Given the description of an element on the screen output the (x, y) to click on. 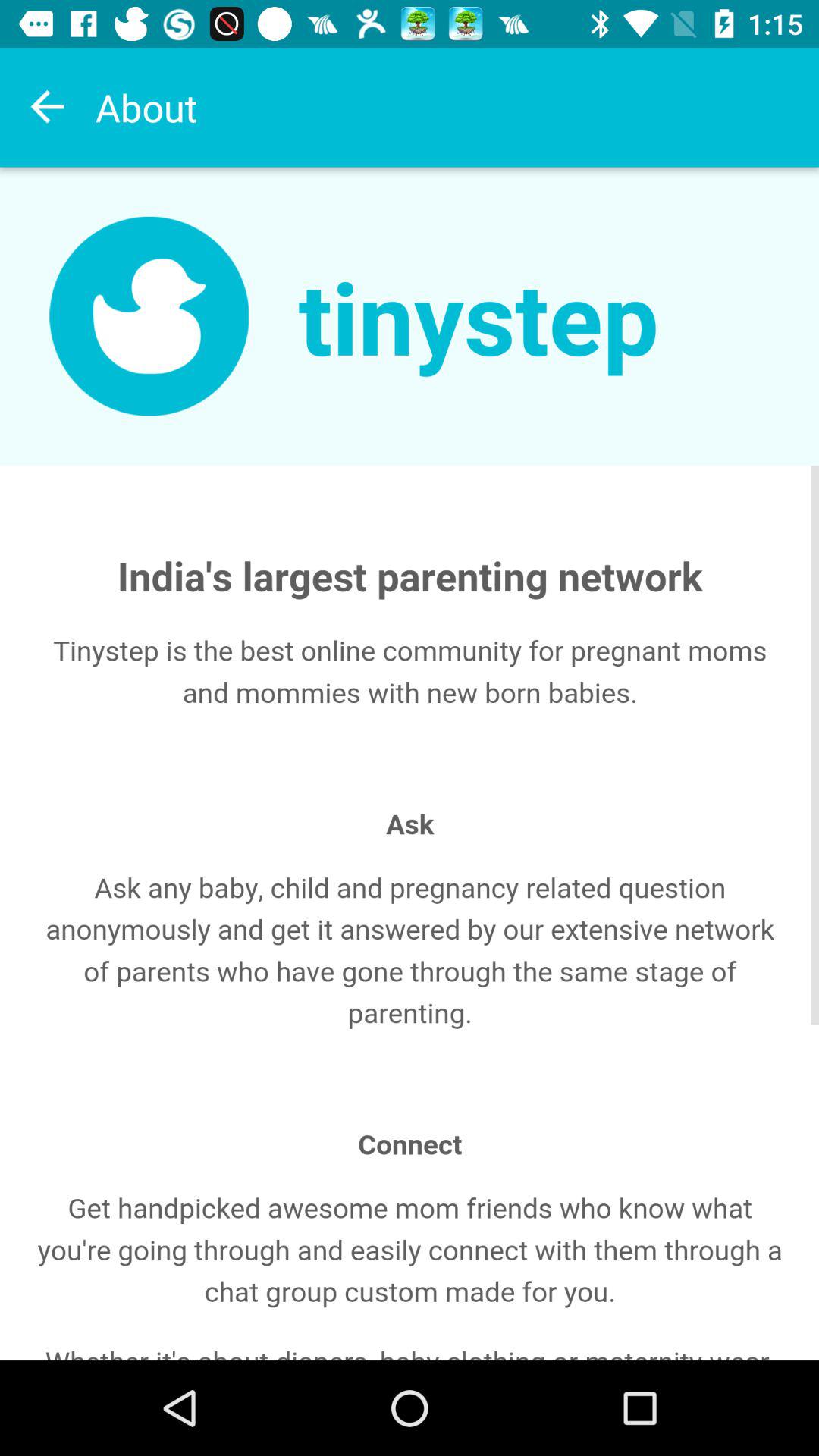
go back (47, 107)
